Given the description of an element on the screen output the (x, y) to click on. 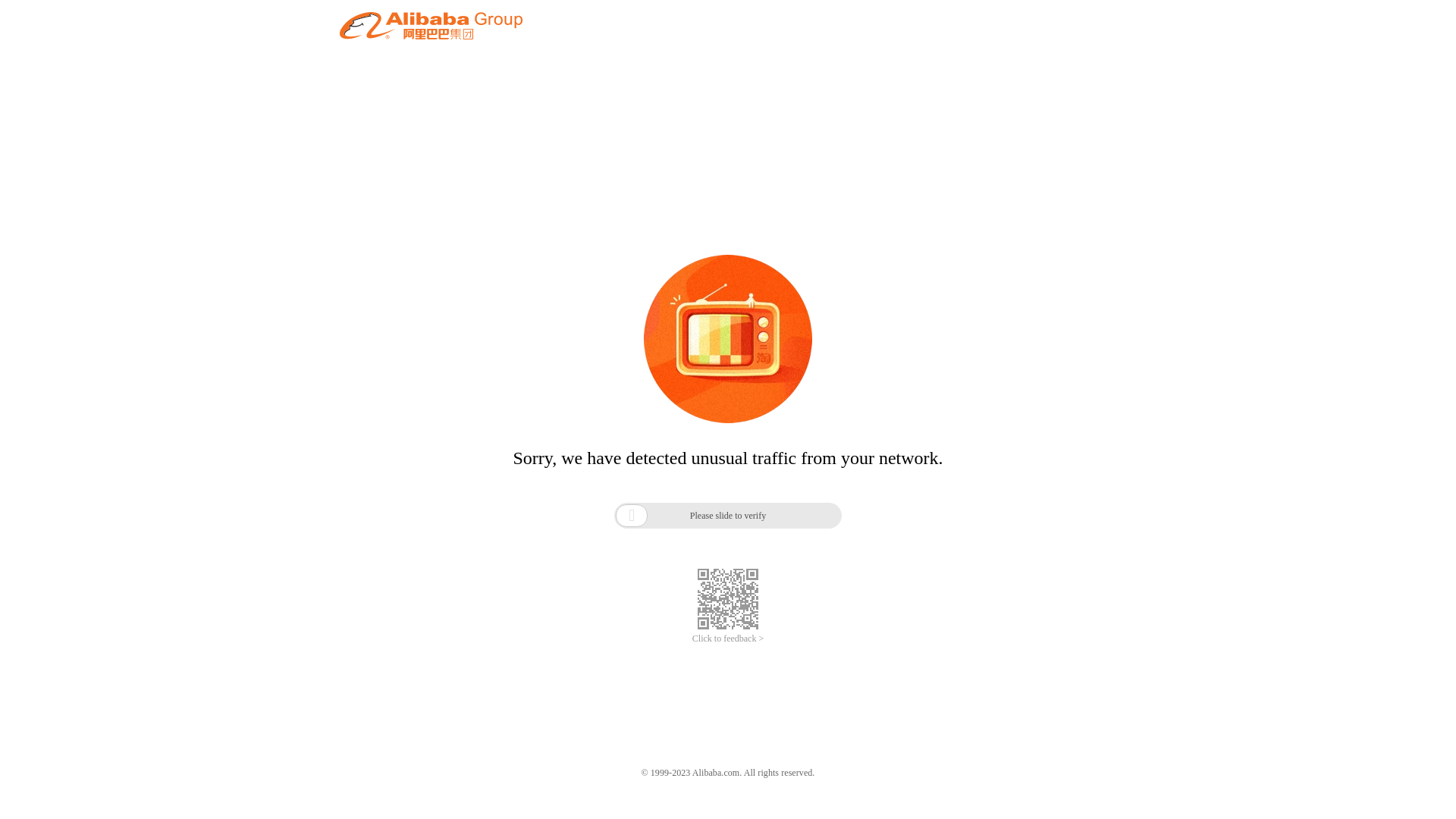
Click to feedback > Element type: text (727, 638)
